Given the description of an element on the screen output the (x, y) to click on. 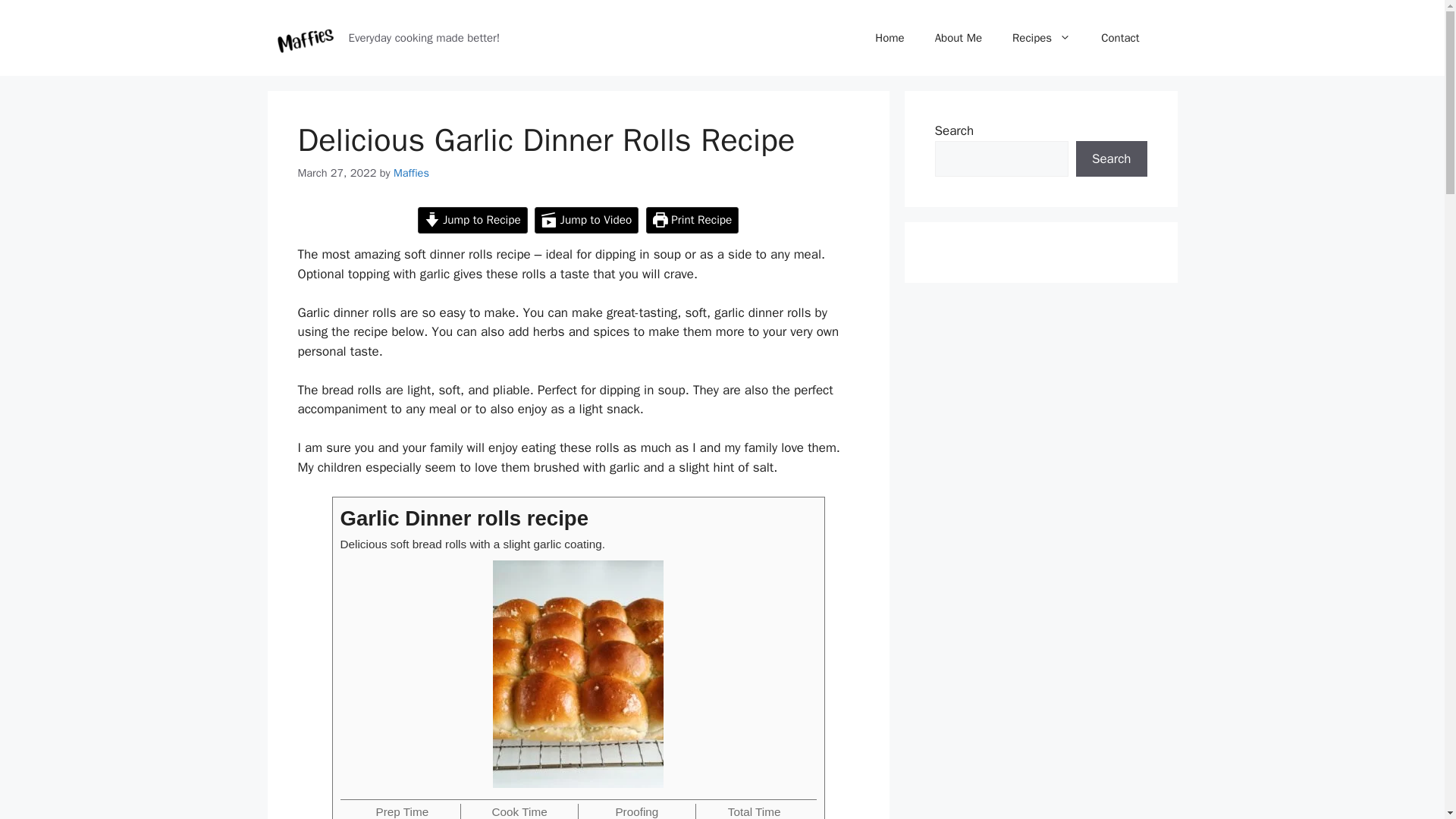
Search (1111, 158)
Contact (1120, 37)
Recipes (1041, 37)
Print Recipe (692, 220)
Jump to Recipe (472, 220)
View all posts by Maffies (411, 172)
About Me (958, 37)
Jump to Video (586, 220)
Home (889, 37)
Maffies (411, 172)
